Given the description of an element on the screen output the (x, y) to click on. 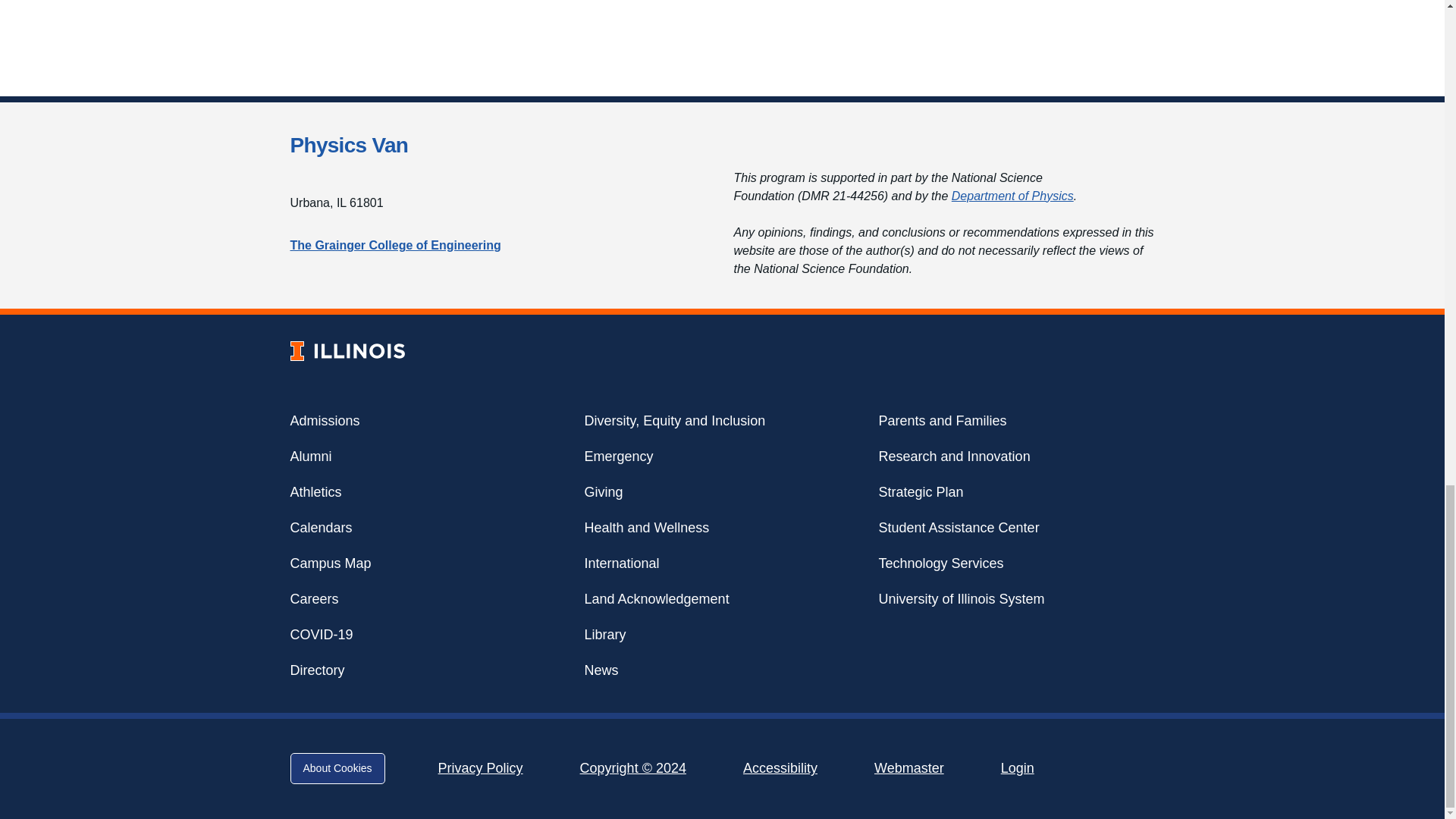
Physics Van (348, 145)
